Given the description of an element on the screen output the (x, y) to click on. 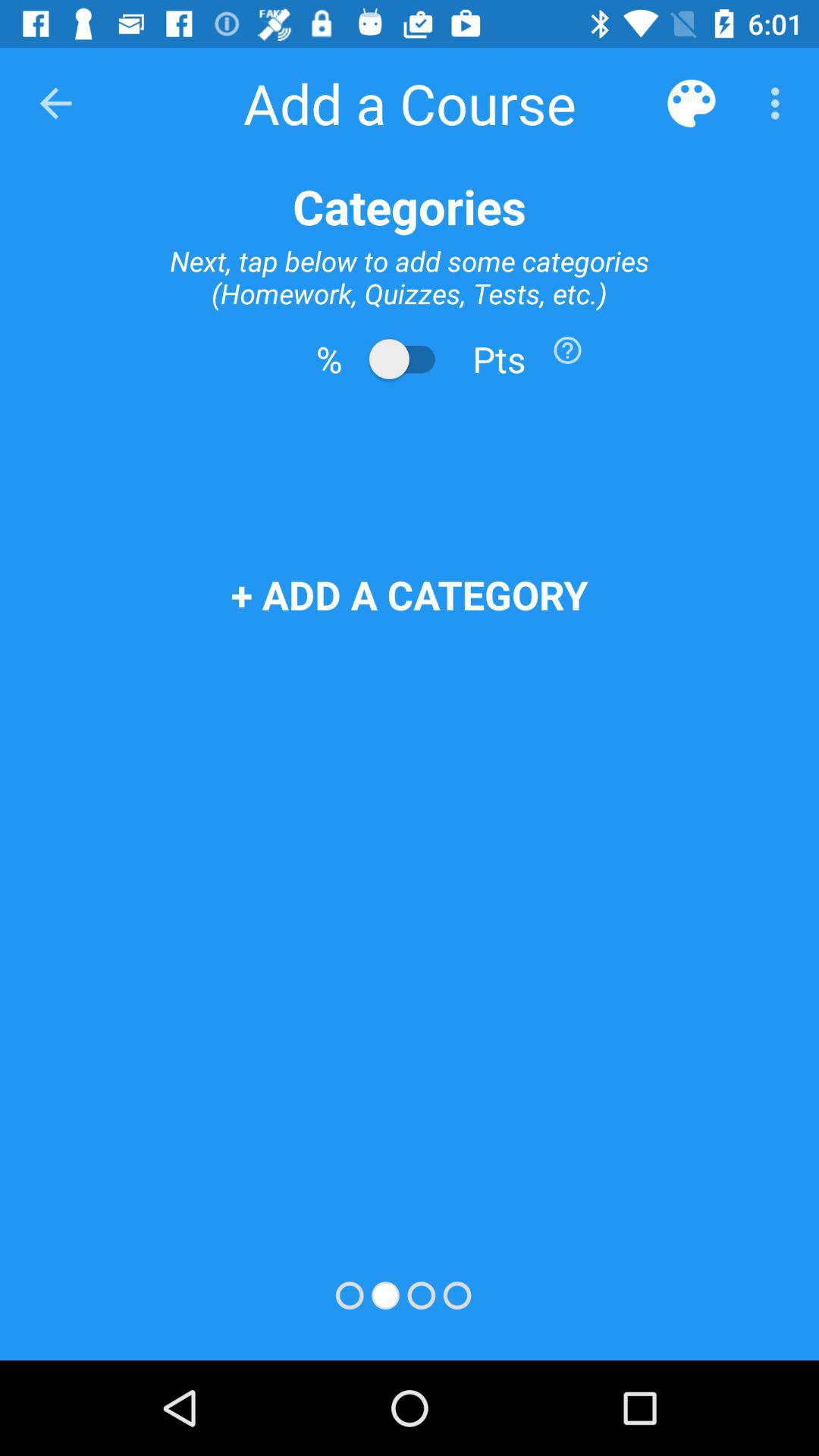
more information (567, 350)
